Given the description of an element on the screen output the (x, y) to click on. 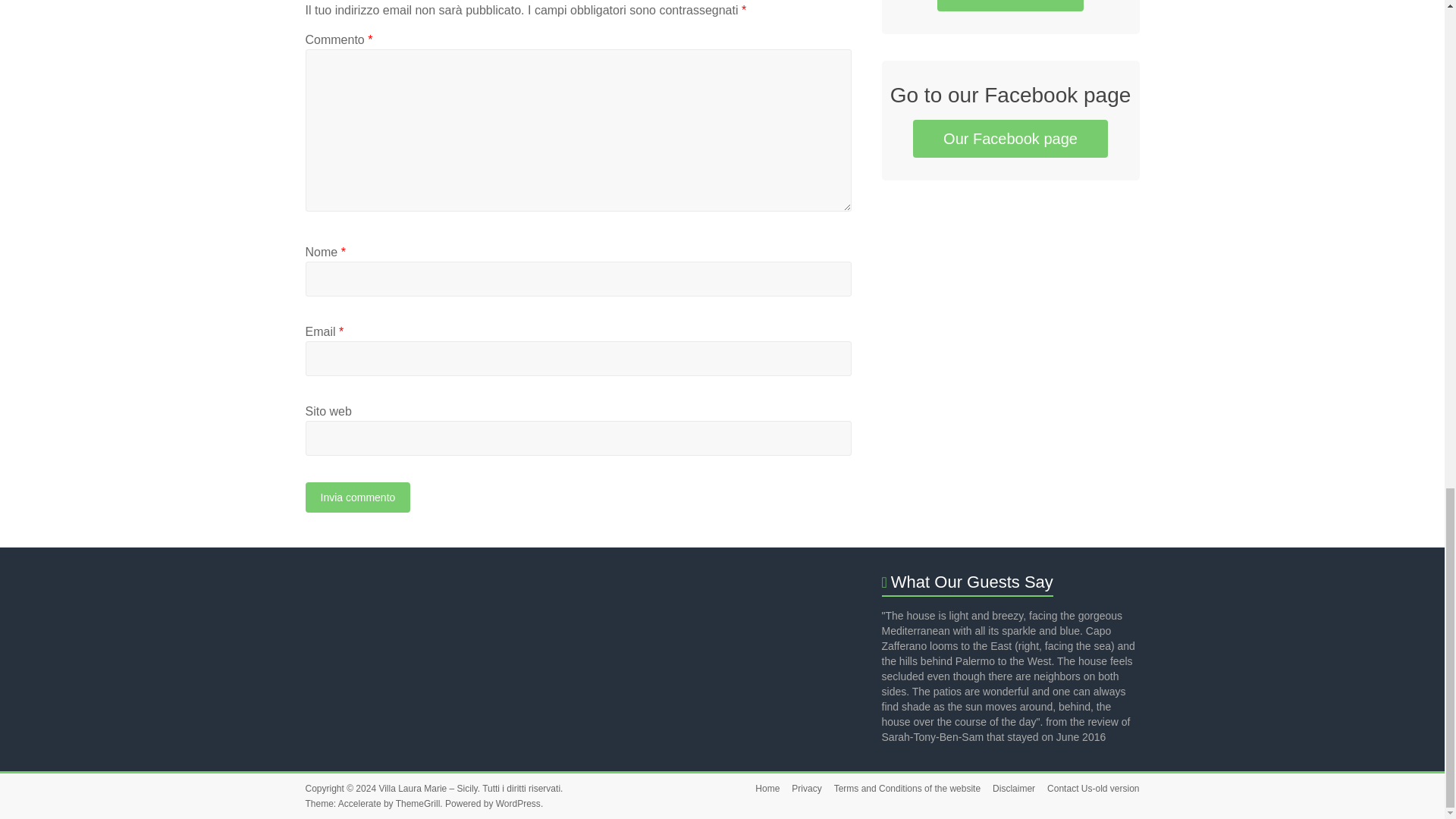
Invia commento (357, 497)
WordPress (518, 803)
Accelerate (359, 803)
Our Facebook page (1010, 138)
Our Facebook page (1010, 138)
Mail Us Now (1010, 5)
Accelerate (359, 803)
Mail Us Now (1010, 5)
WordPress (518, 803)
Invia commento (357, 497)
